Given the description of an element on the screen output the (x, y) to click on. 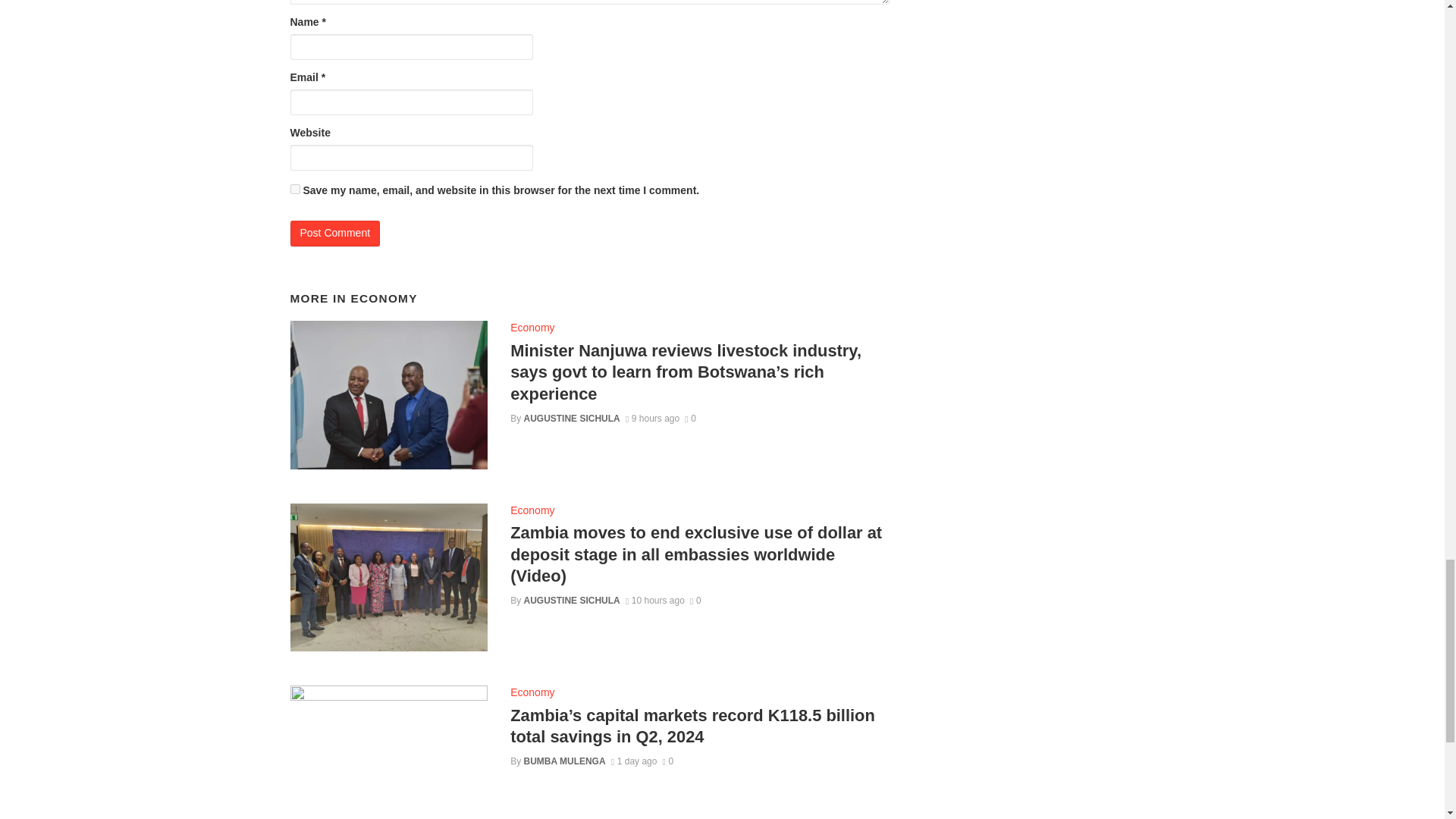
yes (294, 189)
Post Comment (334, 233)
